Given the description of an element on the screen output the (x, y) to click on. 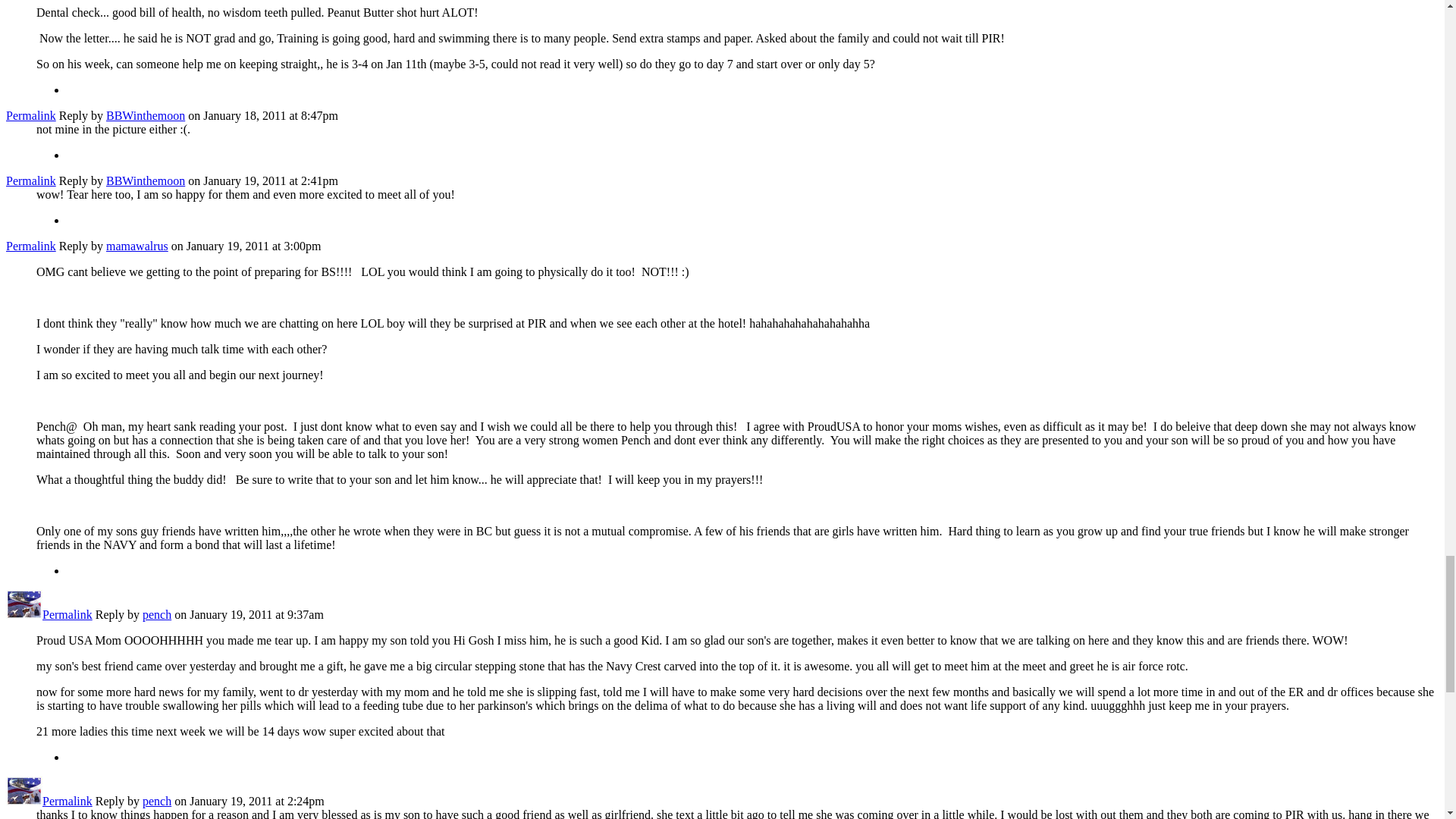
Permalink to this Reply (30, 245)
Permalink to this Reply (30, 180)
pench (23, 614)
Permalink to this Reply (30, 115)
